Given the description of an element on the screen output the (x, y) to click on. 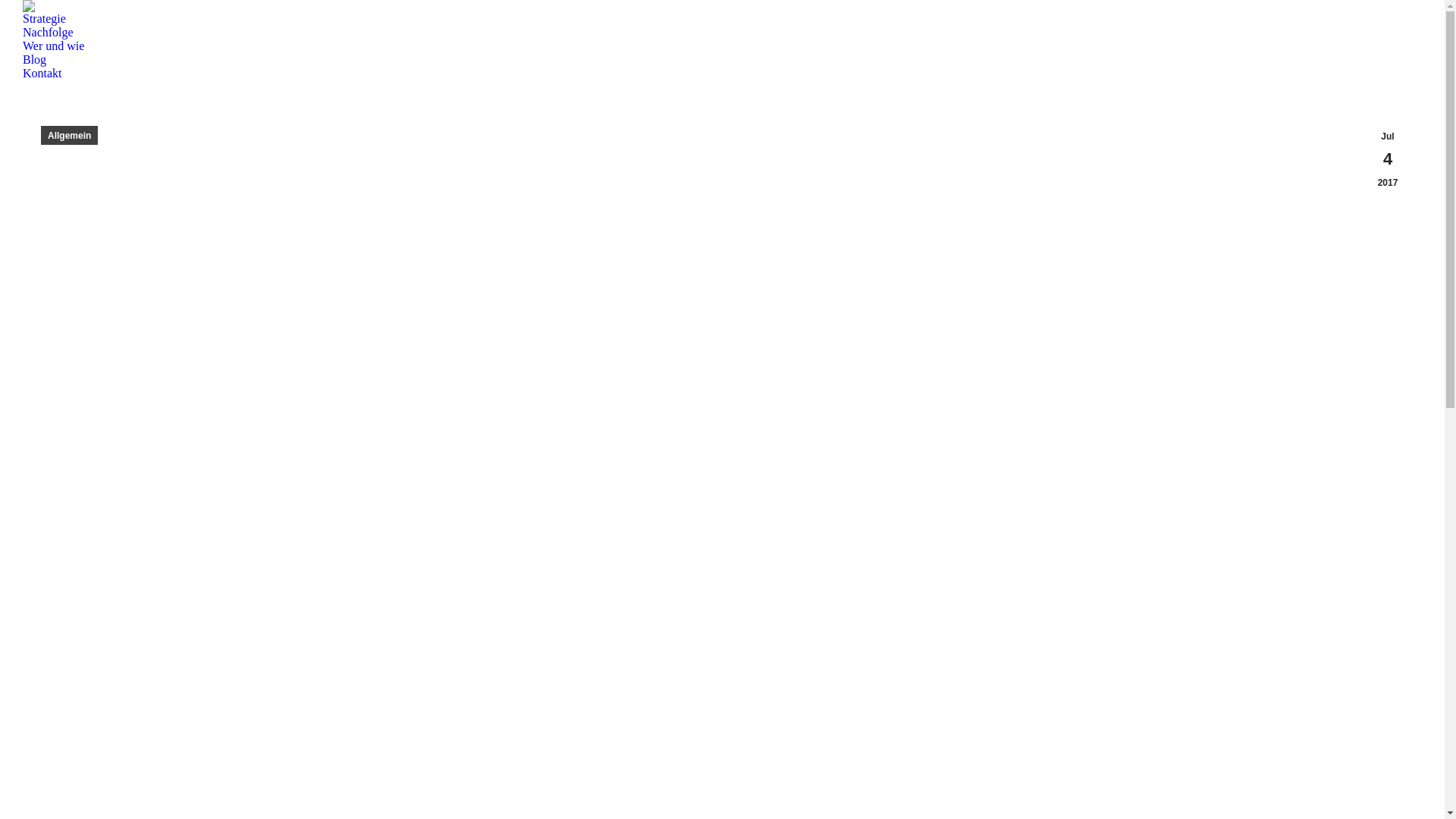
Jul
4
2017 Element type: text (1387, 159)
Strategie Element type: text (43, 18)
Kontakt Element type: text (42, 73)
Nachfolge Element type: text (47, 32)
Wer und wie Element type: text (53, 46)
Blog Element type: text (34, 59)
Allgemein Element type: text (68, 134)
